Given the description of an element on the screen output the (x, y) to click on. 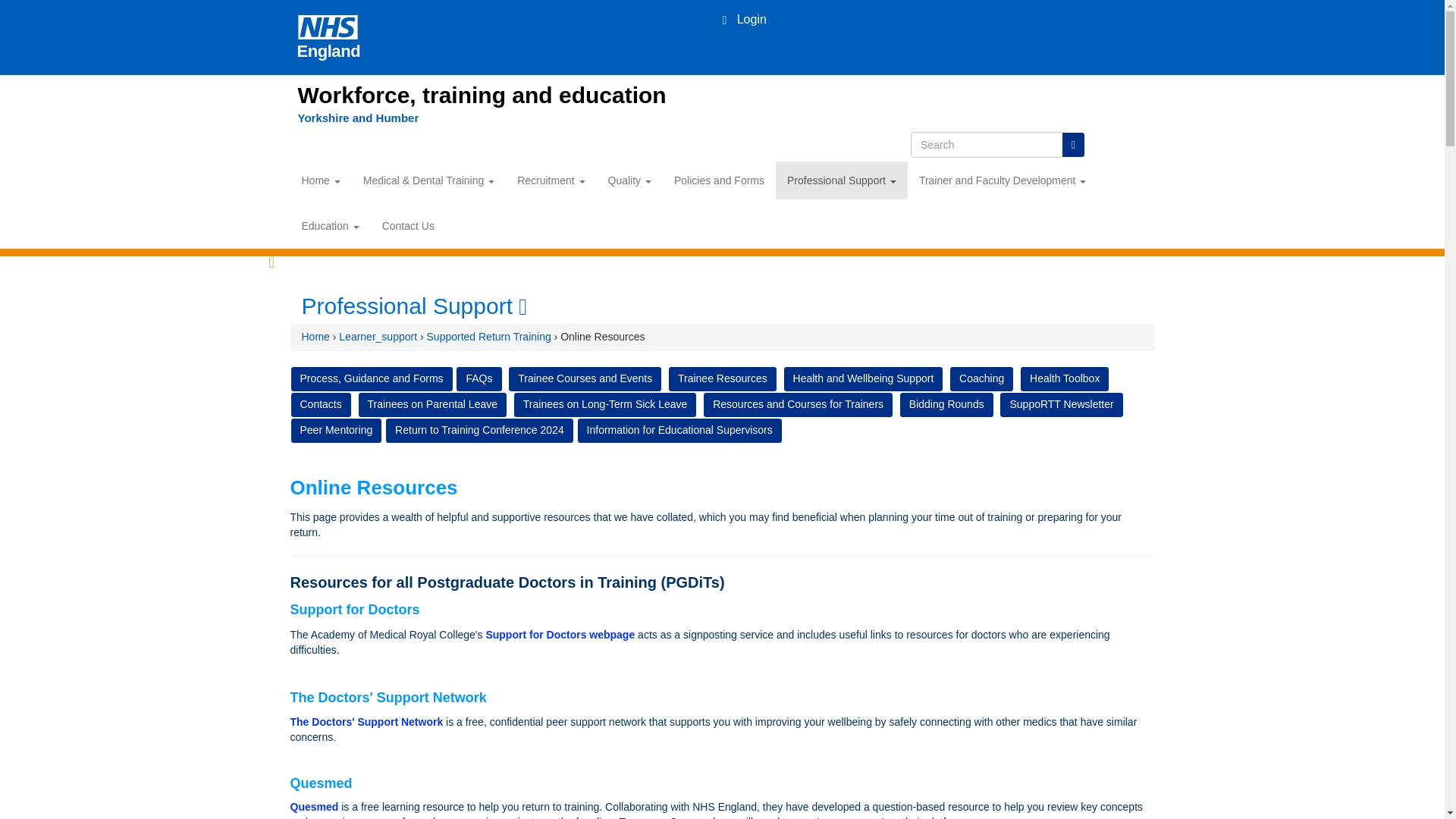
Workforce, training and education (481, 94)
Yorkshire and Humber (358, 118)
Home (319, 180)
  Login (743, 18)
NHS England (328, 37)
England (328, 37)
Medical and Dental Training (428, 180)
